Given the description of an element on the screen output the (x, y) to click on. 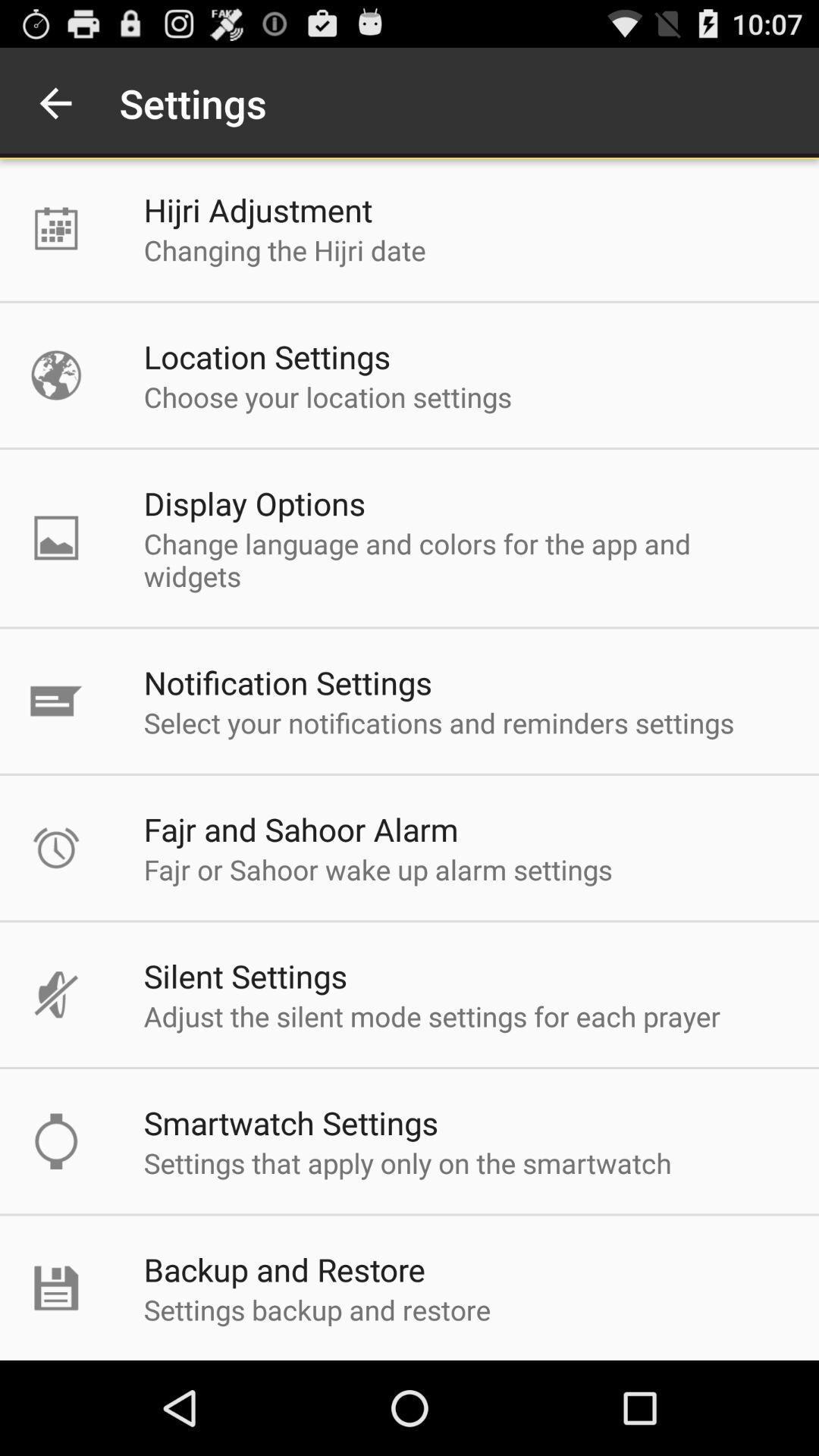
choose the app above the smartwatch settings (431, 1016)
